Given the description of an element on the screen output the (x, y) to click on. 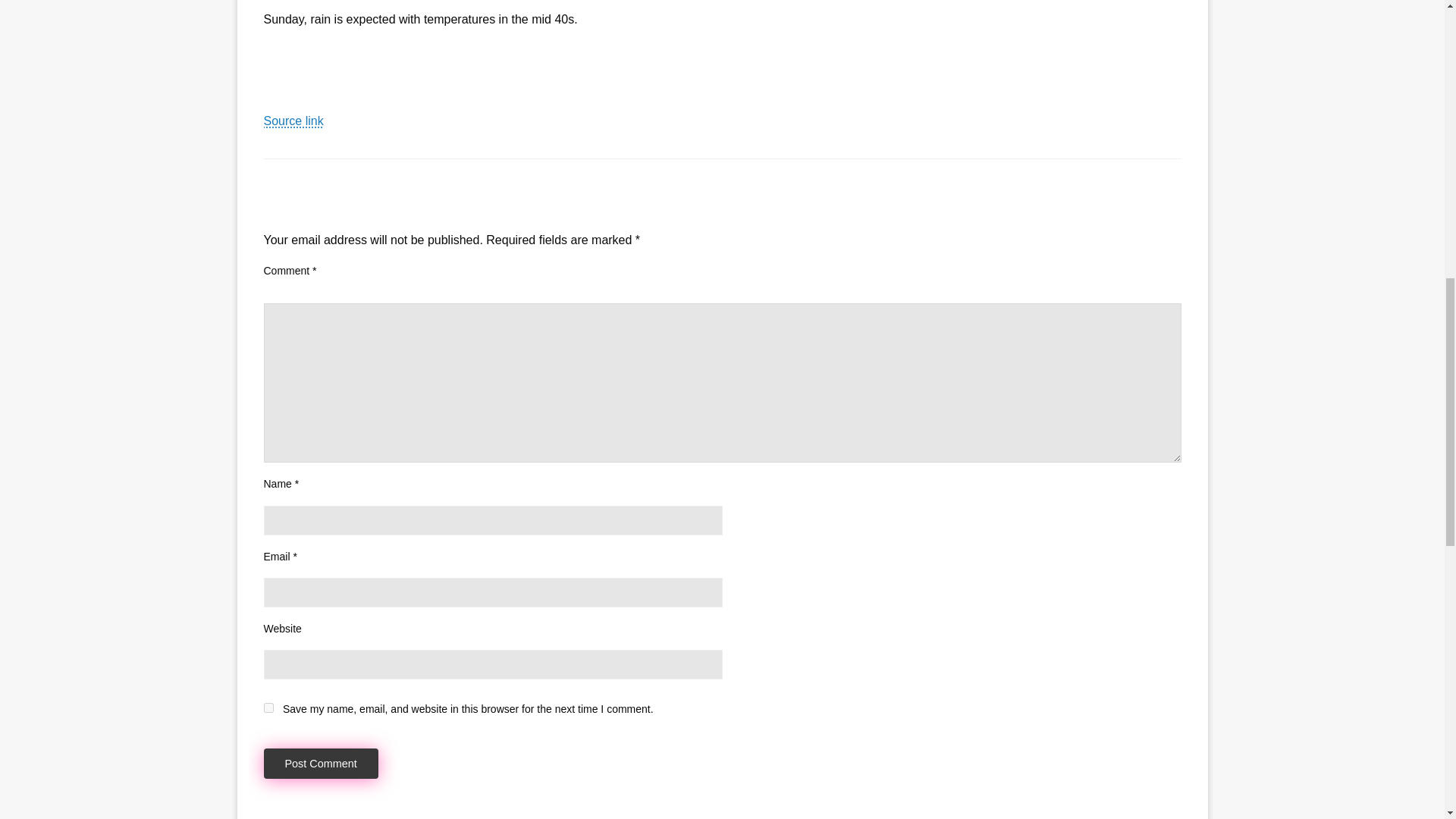
yes (268, 707)
Source link (293, 120)
Post Comment (320, 763)
Post Comment (320, 763)
